Given the description of an element on the screen output the (x, y) to click on. 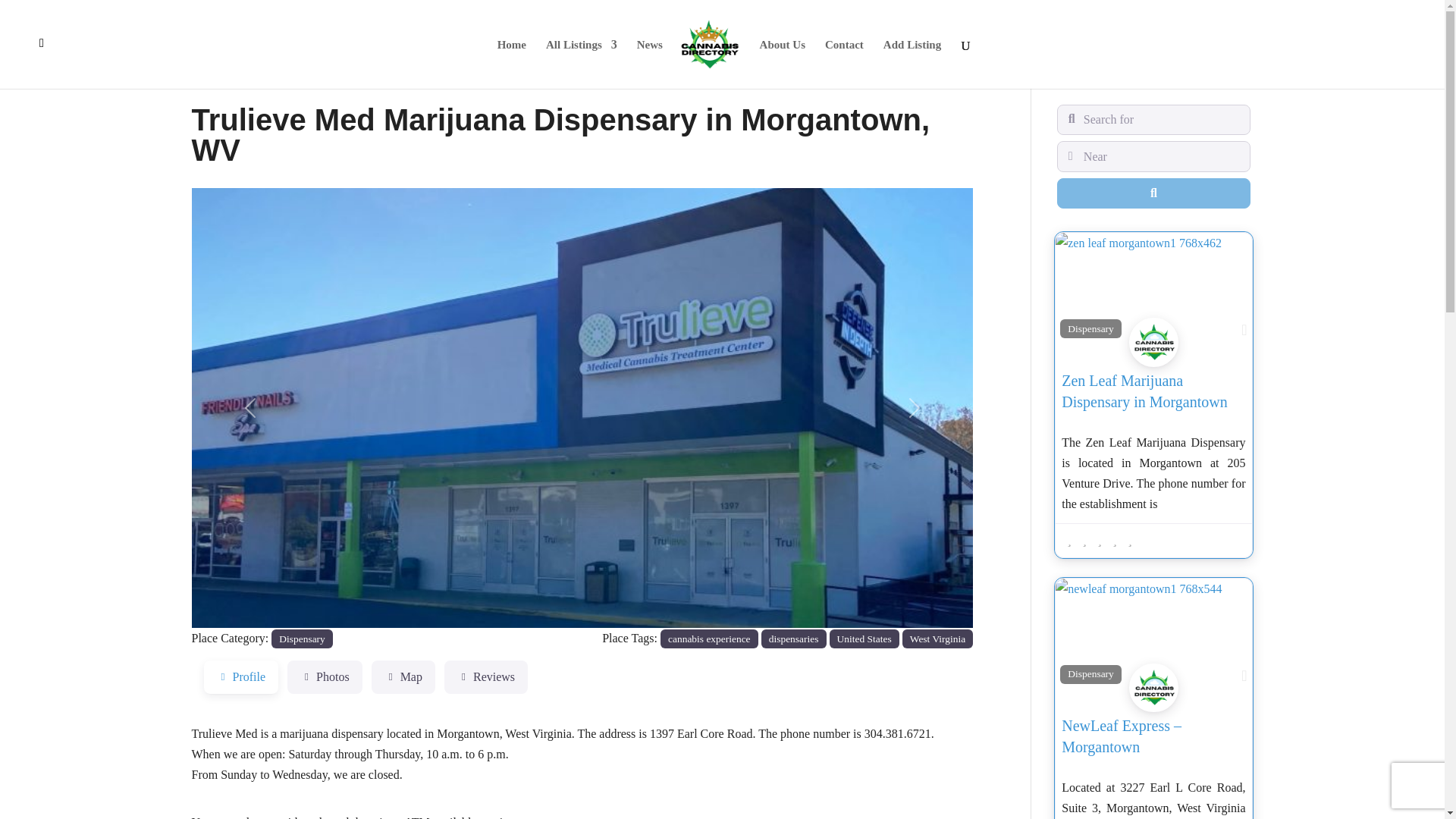
Map (403, 676)
Reviews (485, 676)
cannabis experience (709, 638)
West Virginia (938, 638)
Add Listing (911, 63)
Profile (240, 676)
Reviews (485, 676)
All Listings (581, 63)
Map (403, 676)
Photos (324, 676)
